Given the description of an element on the screen output the (x, y) to click on. 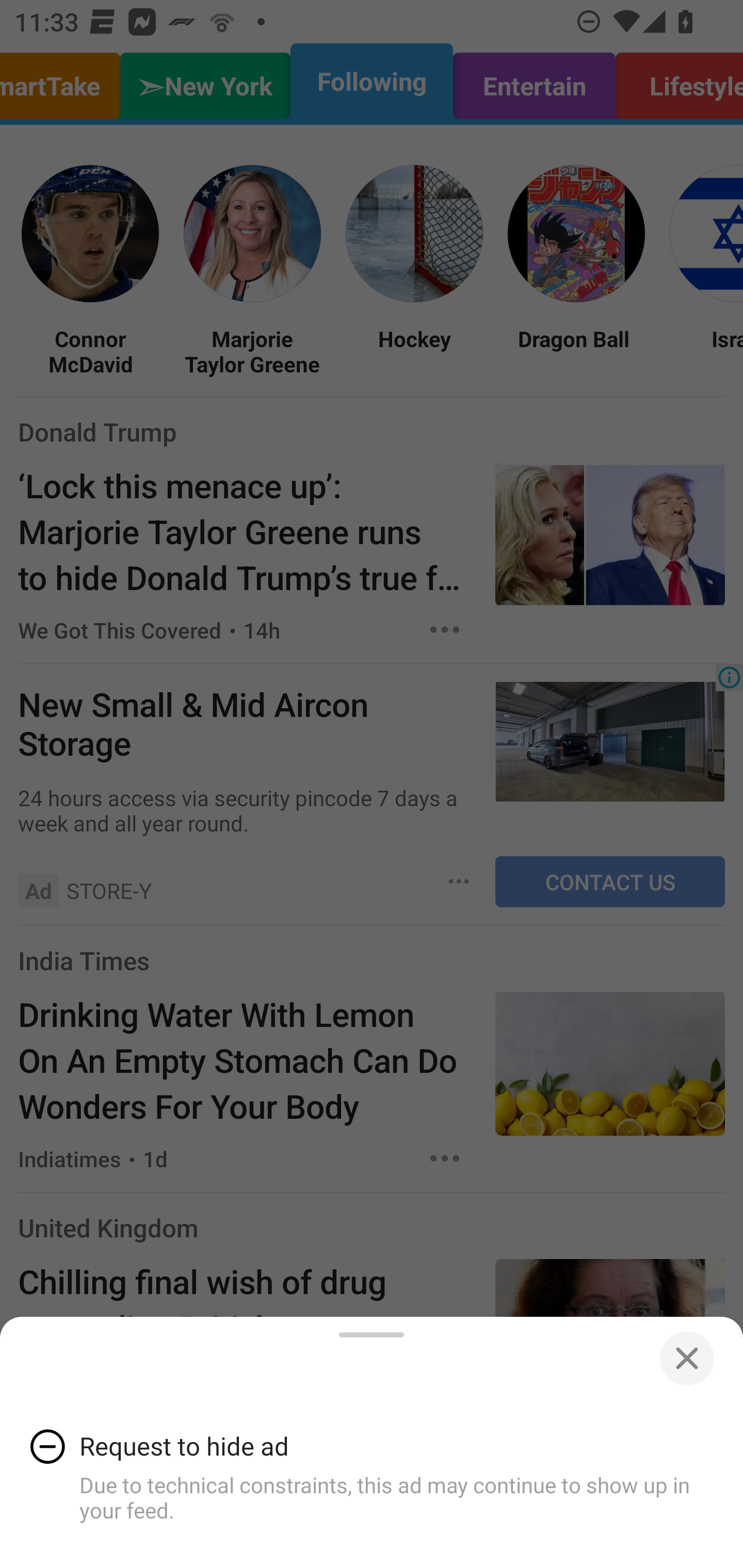
Close bottom sheet (686, 1358)
